Given the description of an element on the screen output the (x, y) to click on. 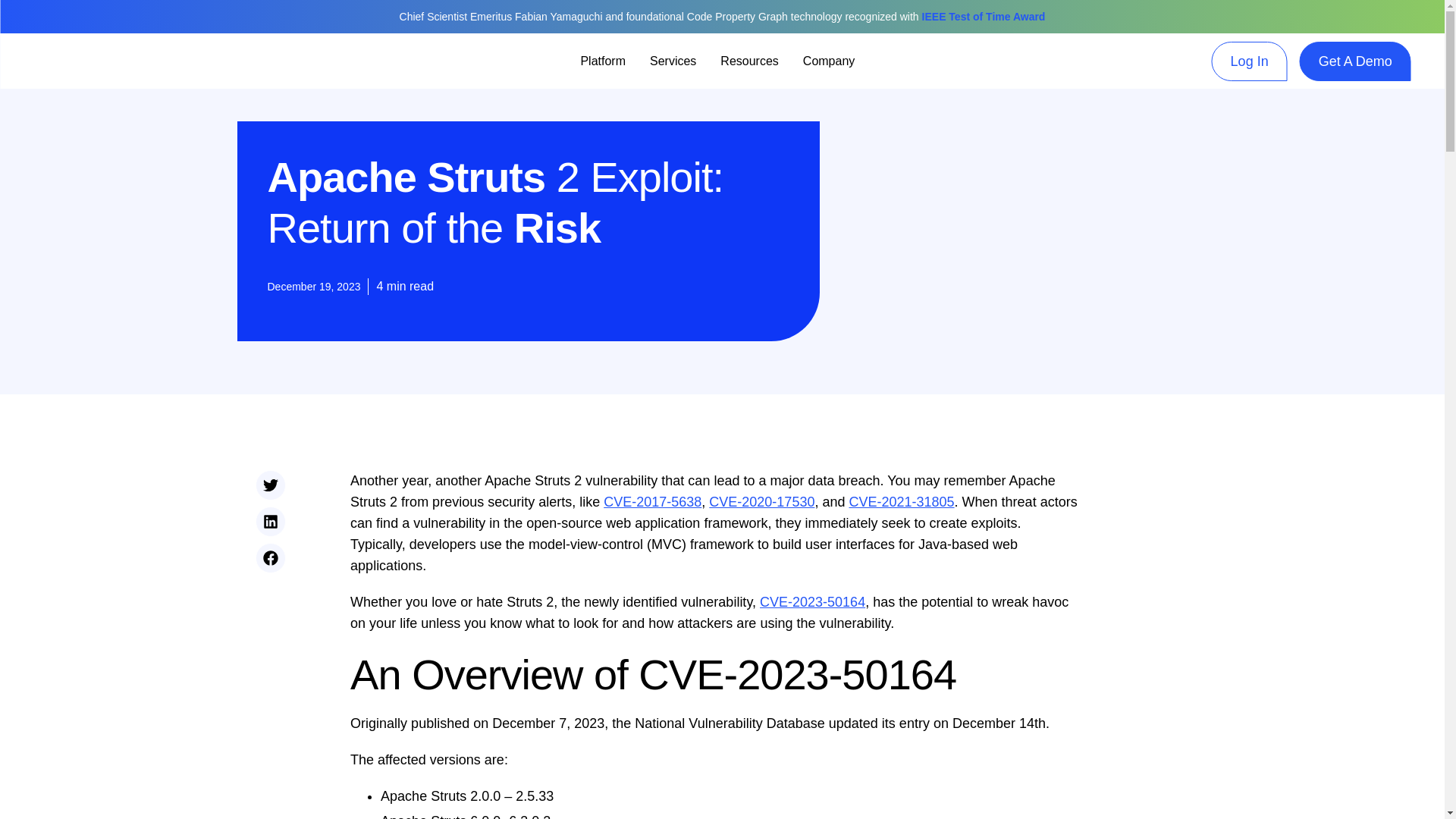
Platform (602, 60)
IEEE Test of Time Award (983, 16)
Company (828, 60)
Services (672, 60)
Resources (748, 60)
